Given the description of an element on the screen output the (x, y) to click on. 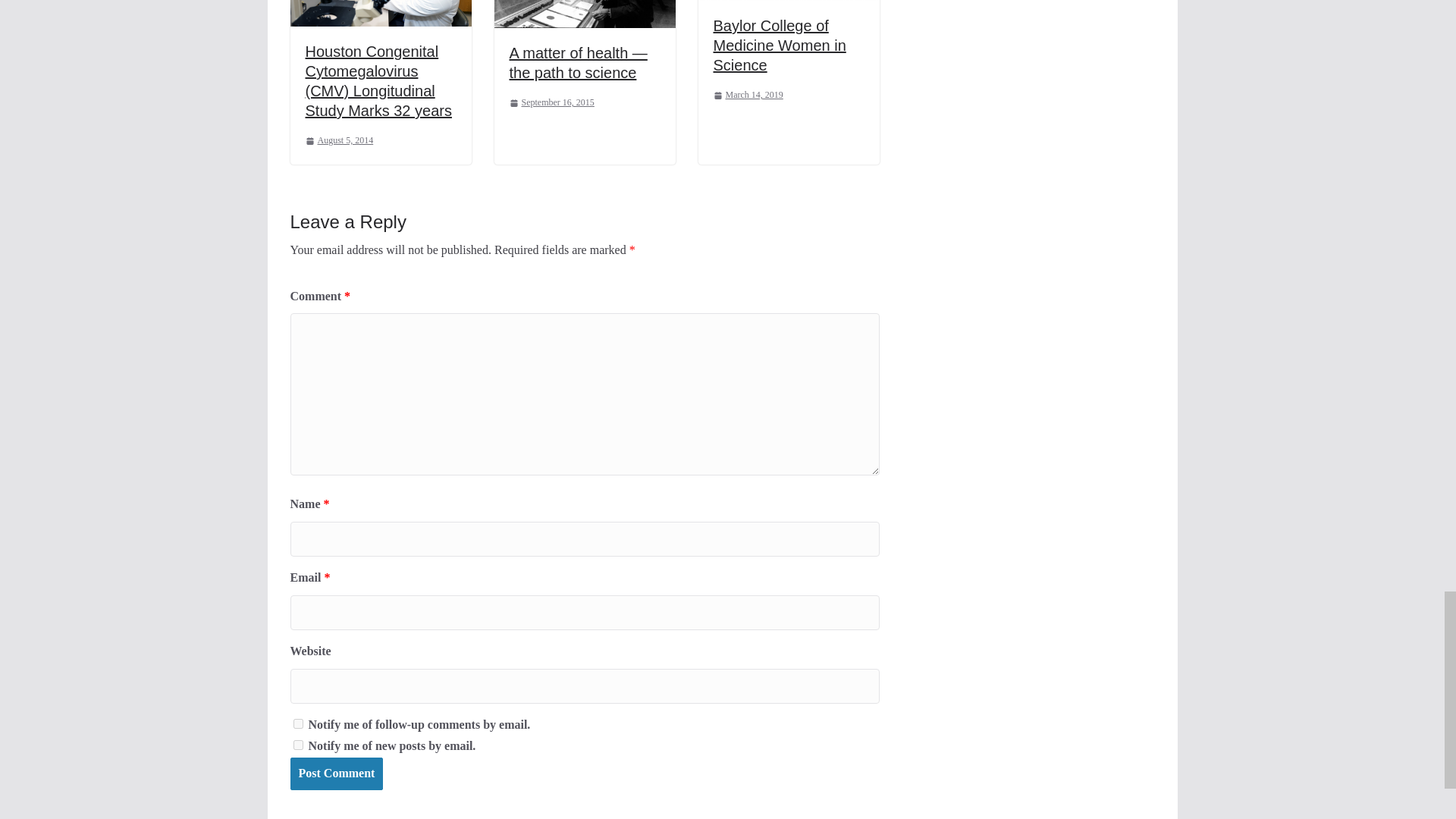
3:15 pm (338, 140)
Post Comment (335, 773)
subscribe (297, 745)
subscribe (297, 723)
